Given the description of an element on the screen output the (x, y) to click on. 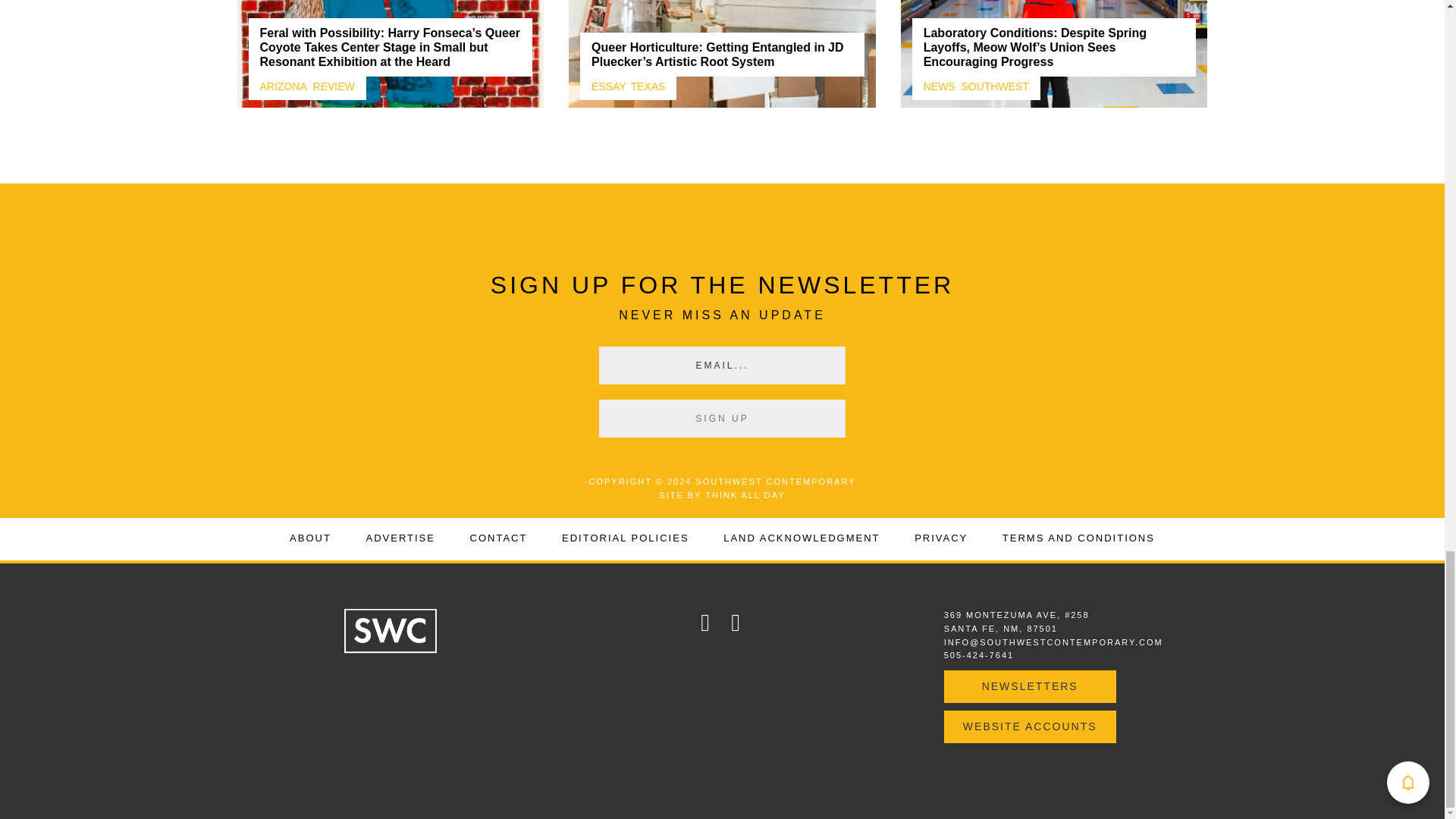
Sign Up (721, 418)
